Given the description of an element on the screen output the (x, y) to click on. 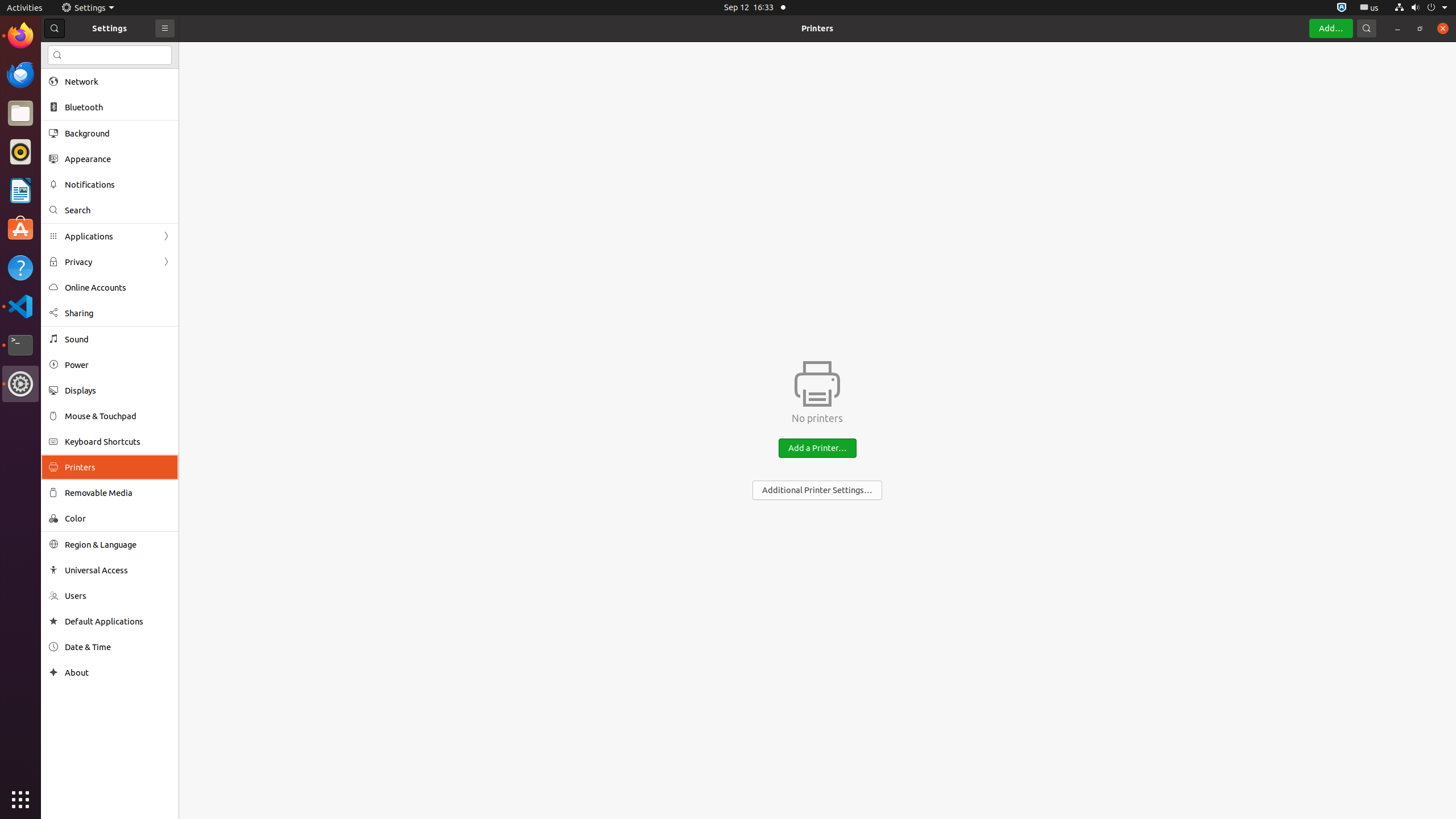
Sharing Element type: label (117, 312)
Applications Element type: label (109, 236)
Privacy Element type: label (109, 261)
IsaHelpMain.desktop Element type: label (75, 170)
